Given the description of an element on the screen output the (x, y) to click on. 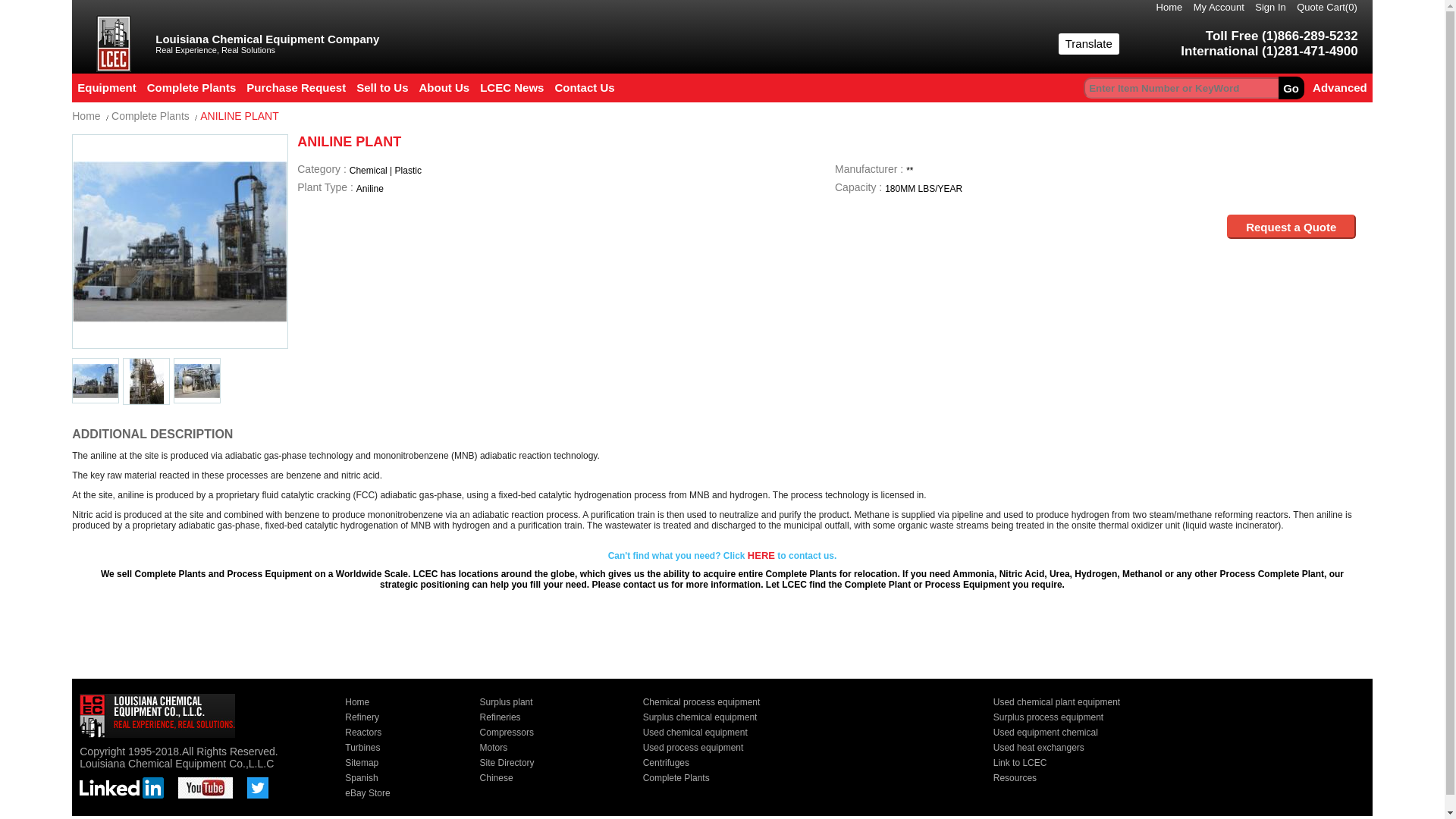
Search Product (1291, 87)
About Us (444, 87)
Go (1291, 87)
Advanced (1340, 87)
Translate (1088, 43)
Complete Plants (191, 87)
Equipment (106, 87)
Go (1291, 87)
My Account (1222, 8)
Sell to Us (381, 87)
Home (1173, 8)
Sign In (1273, 8)
LCEC News (511, 87)
Purchase Request (295, 87)
Contact Us (584, 87)
